Given the description of an element on the screen output the (x, y) to click on. 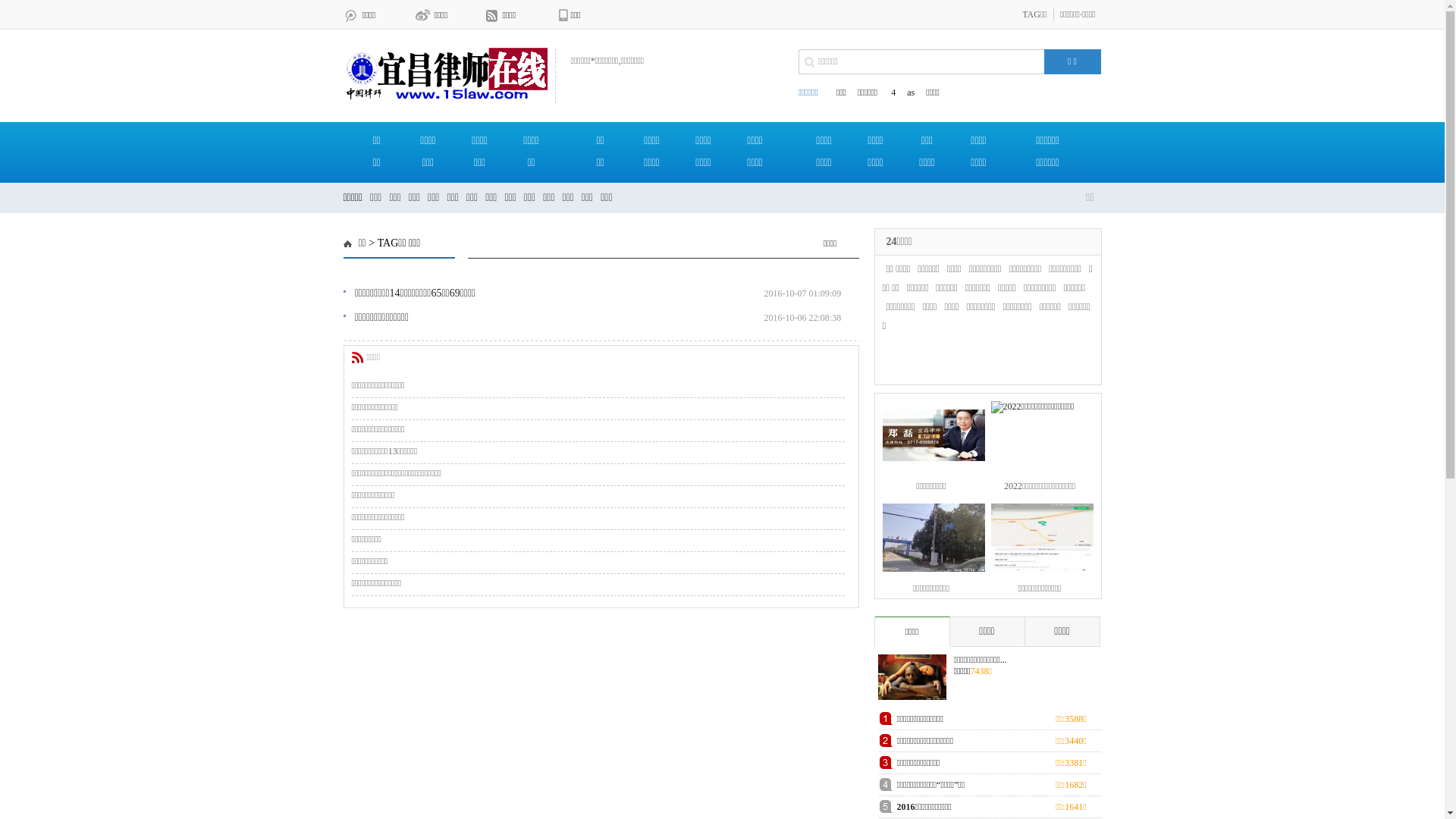
as Element type: text (910, 92)
4 Element type: text (891, 92)
